Given the description of an element on the screen output the (x, y) to click on. 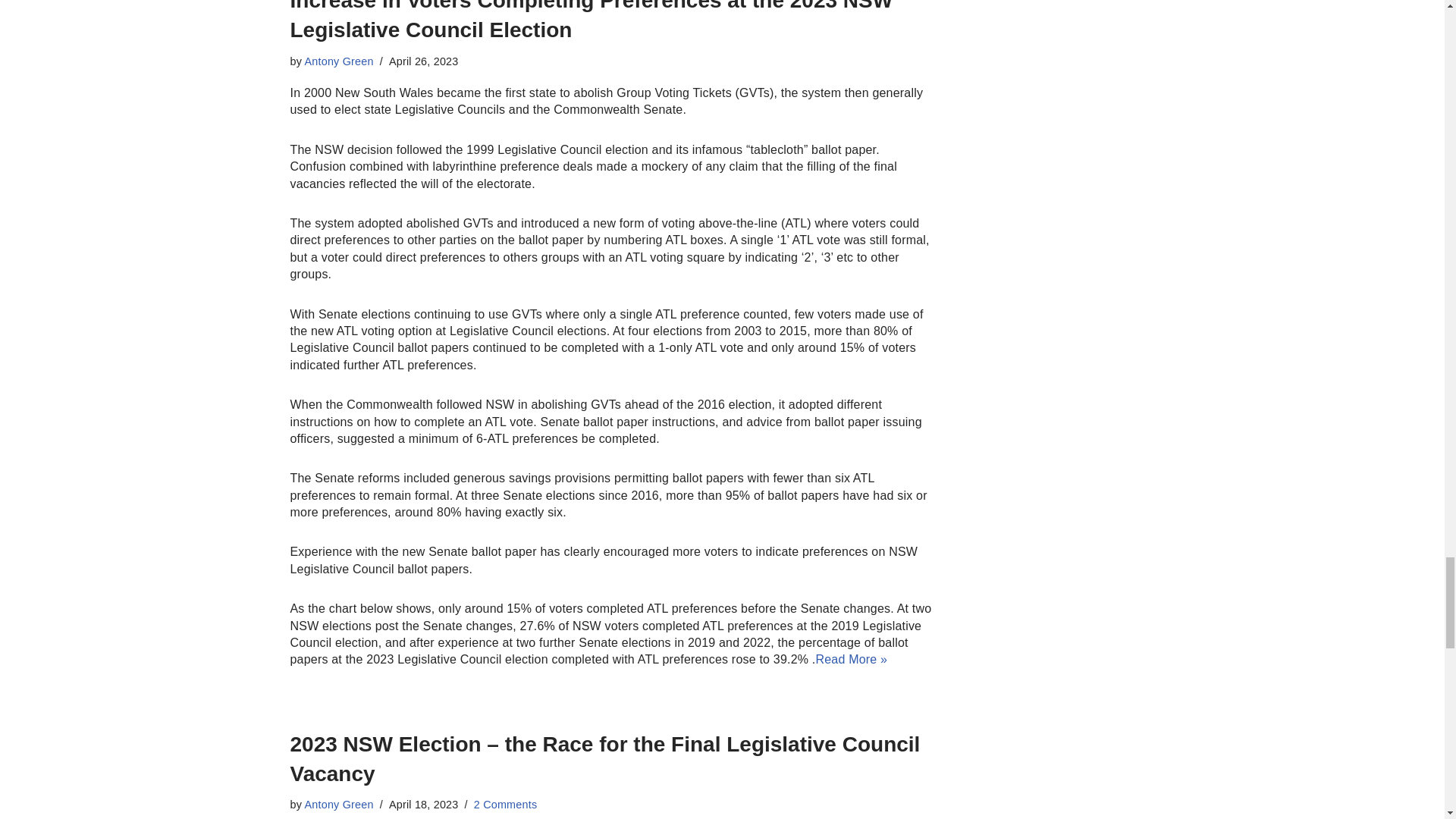
Posts by Antony Green (339, 804)
Posts by Antony Green (339, 61)
